Given the description of an element on the screen output the (x, y) to click on. 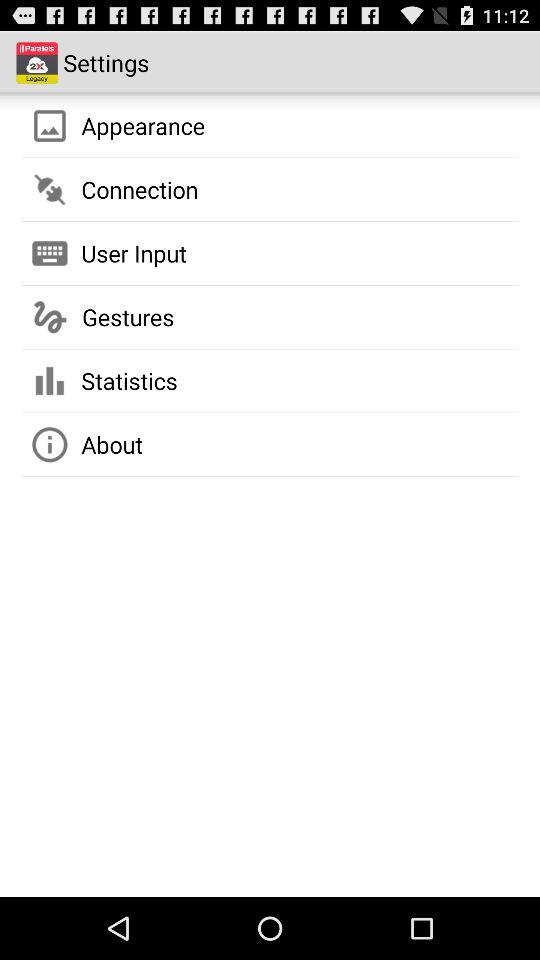
choose app below appearance icon (139, 189)
